Given the description of an element on the screen output the (x, y) to click on. 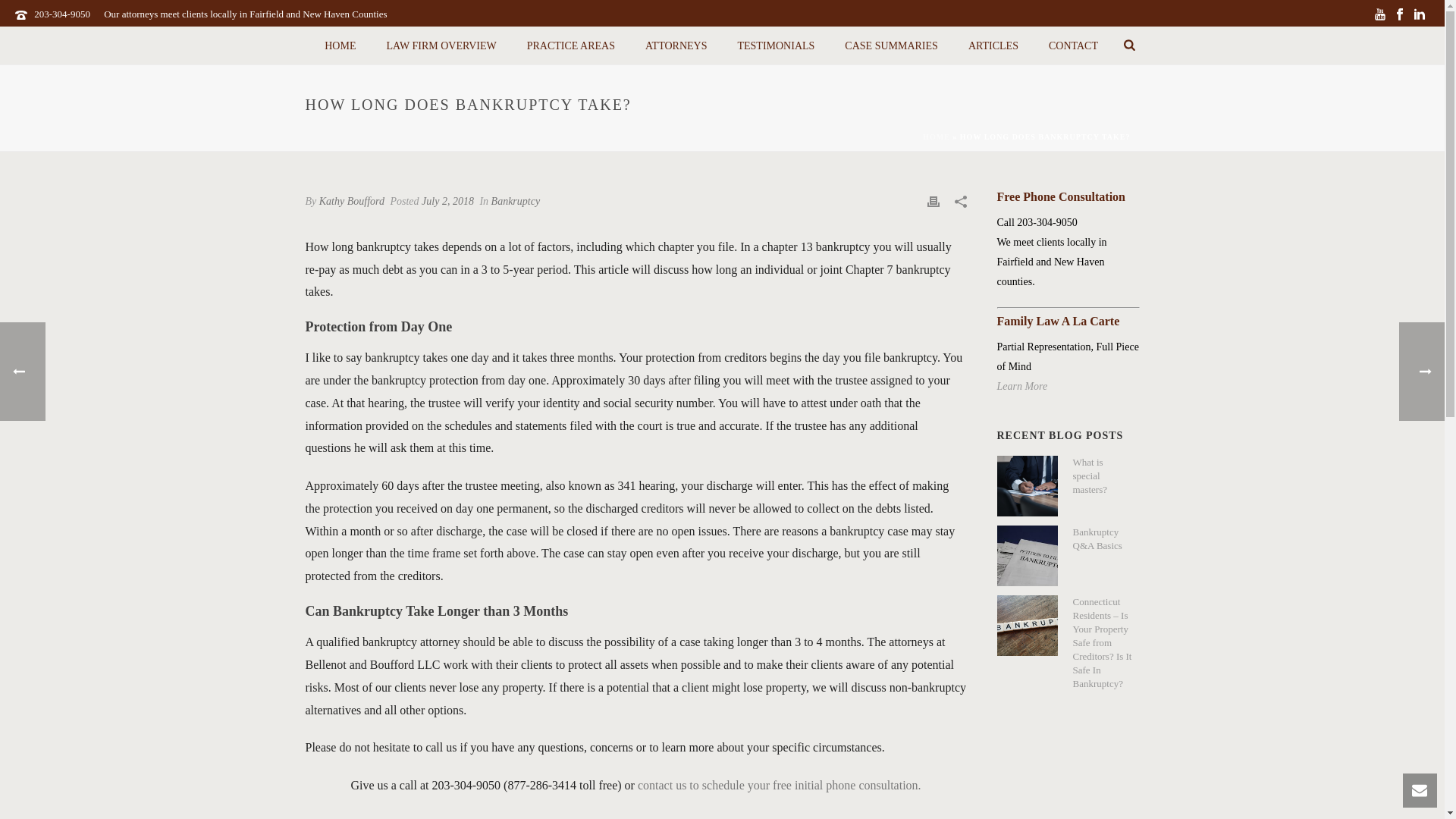
What is special masters? (1026, 485)
HOME (339, 45)
HOME (339, 45)
CASE SUMMARIES (891, 45)
CONTACT (1073, 45)
PRACTICE AREAS (571, 45)
203-304-9050 (61, 13)
PRACTICE AREAS (571, 45)
TESTIMONIALS (775, 45)
ARTICLES (993, 45)
Posts by Kathy Boufford (351, 201)
LAW FIRM OVERVIEW (441, 45)
ATTORNEYS (676, 45)
LAW FIRM OVERVIEW (441, 45)
